Given the description of an element on the screen output the (x, y) to click on. 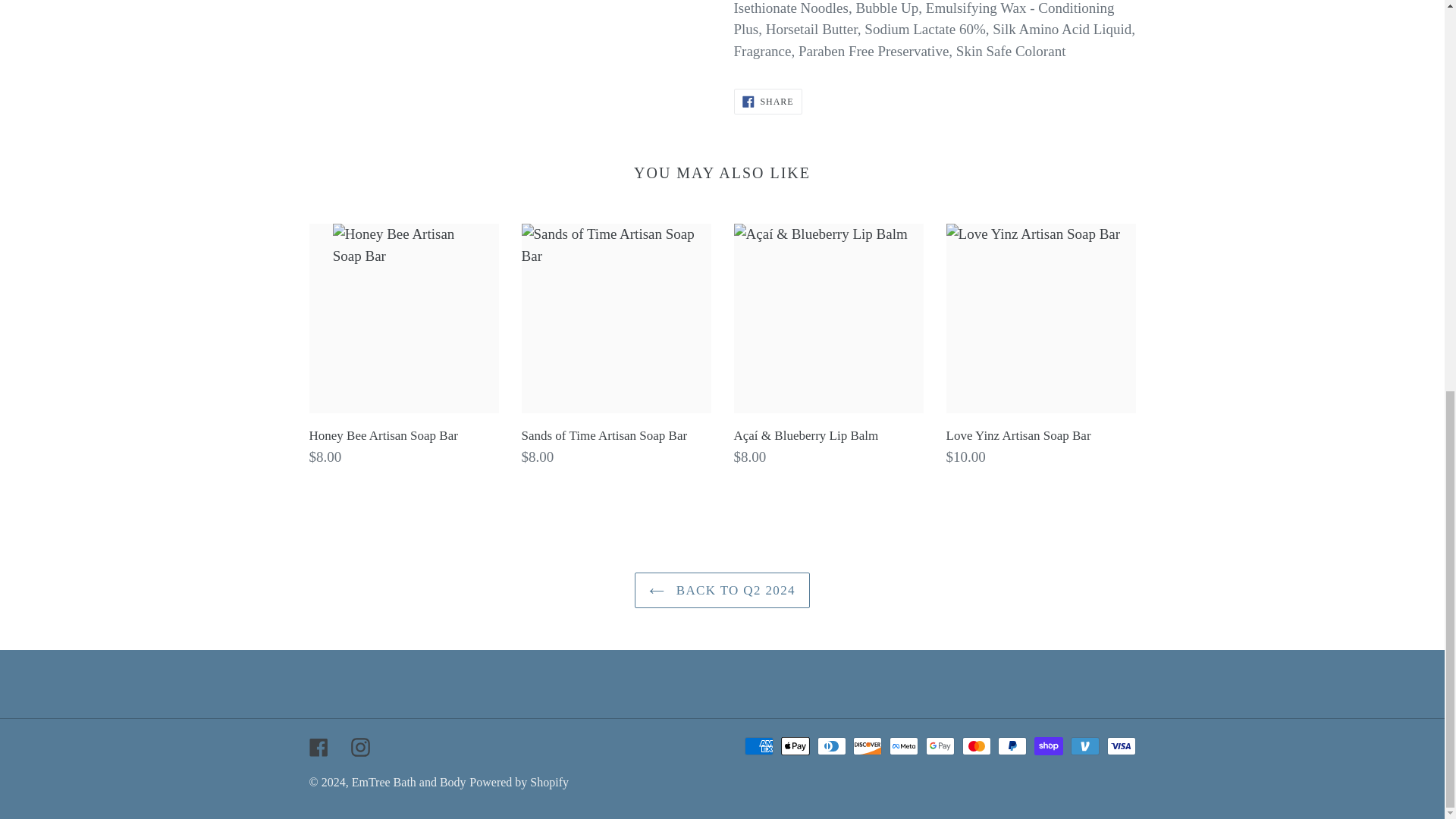
BACK TO Q2 2024 (721, 590)
Powered by Shopify (518, 781)
EmTree Bath and Body (408, 781)
